Given the description of an element on the screen output the (x, y) to click on. 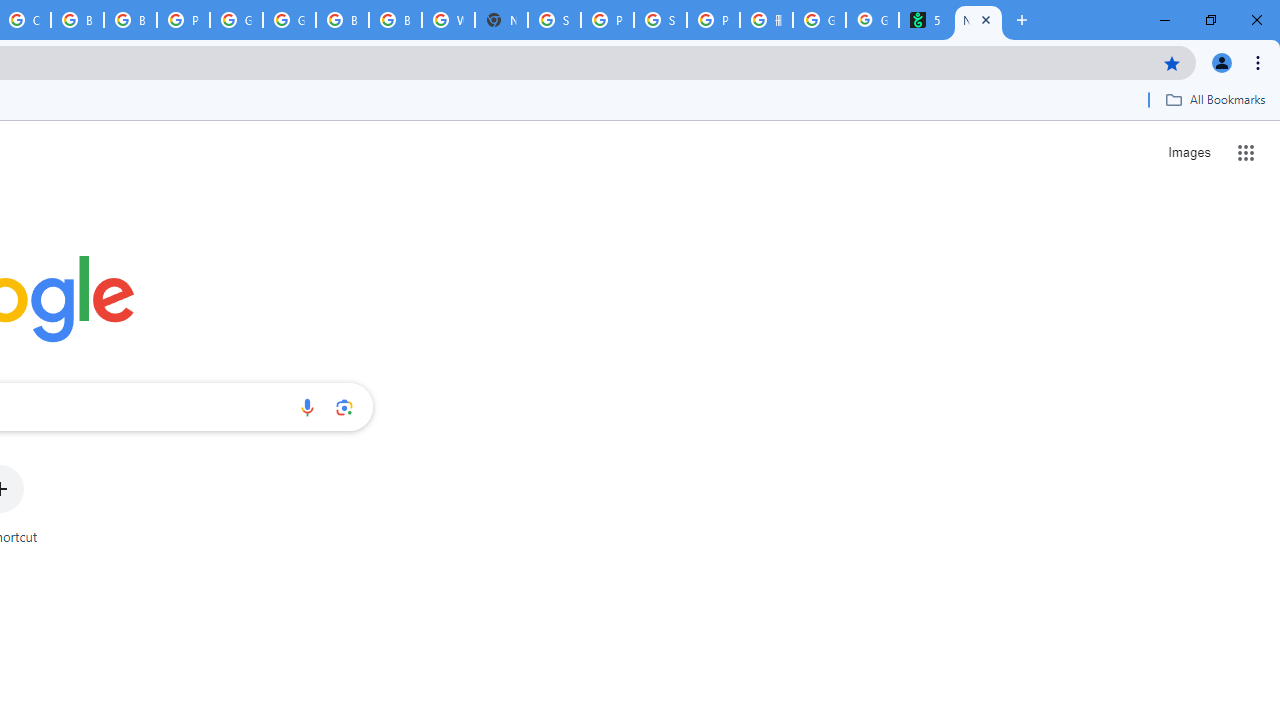
Search by image (344, 407)
New Tab (501, 20)
Browse Chrome as a guest - Computer - Google Chrome Help (395, 20)
New Tab (978, 20)
Search by voice (307, 407)
Google Cloud Platform (235, 20)
